Given the description of an element on the screen output the (x, y) to click on. 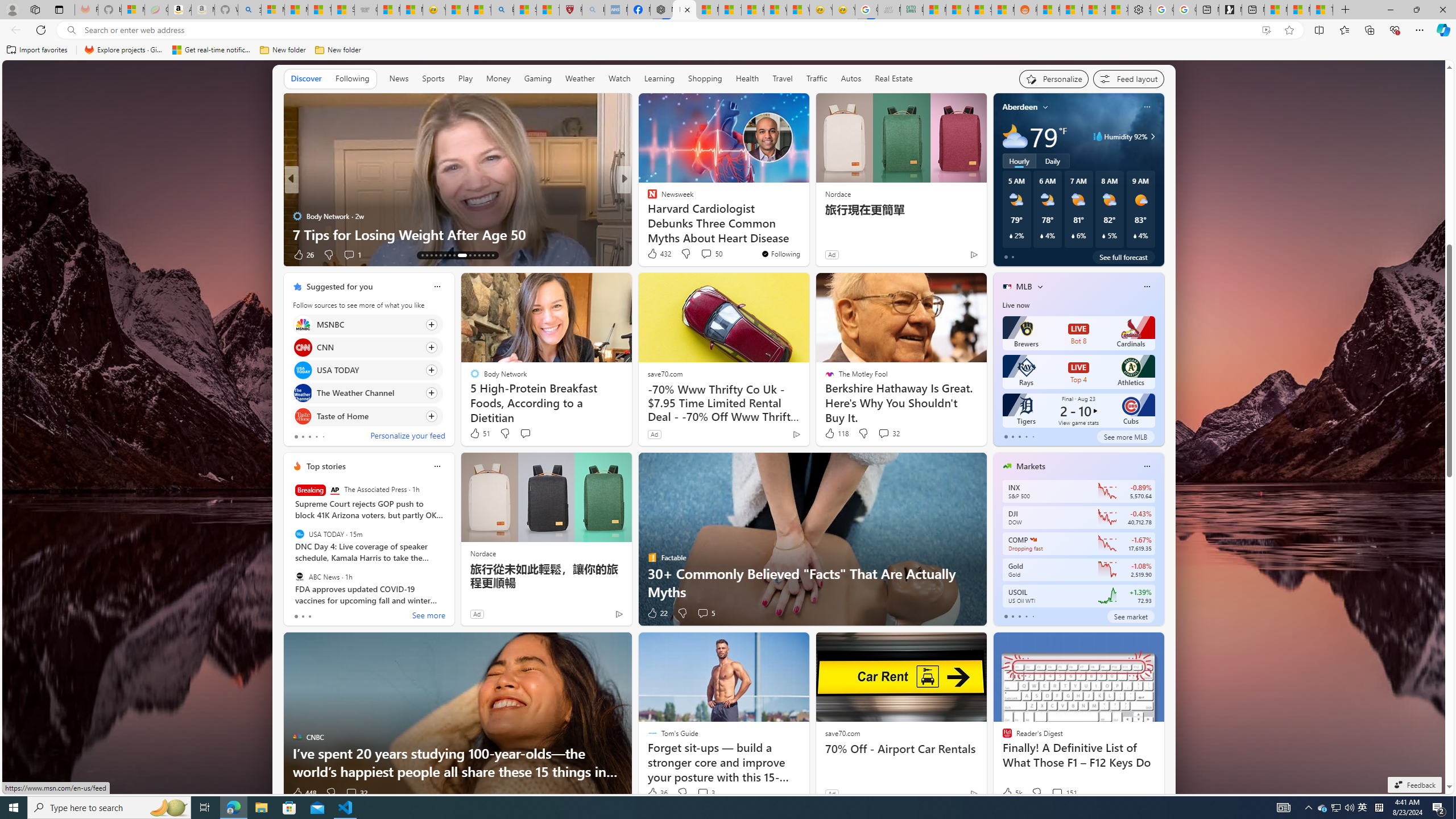
AutomationID: tab-69 (435, 255)
AutomationID: tab-67 (426, 255)
Import favorites (36, 49)
CNN (302, 346)
26 Like (303, 254)
MSN (1003, 9)
More options (1146, 466)
R******* | Trusted Community Engagement and Contributions (1048, 9)
AutomationID: tab-78 (483, 255)
9 Unhygienic Things Most People Do (807, 234)
Click to follow source MSNBC (367, 324)
AutomationID: backgroundImagePicture (723, 426)
